Given the description of an element on the screen output the (x, y) to click on. 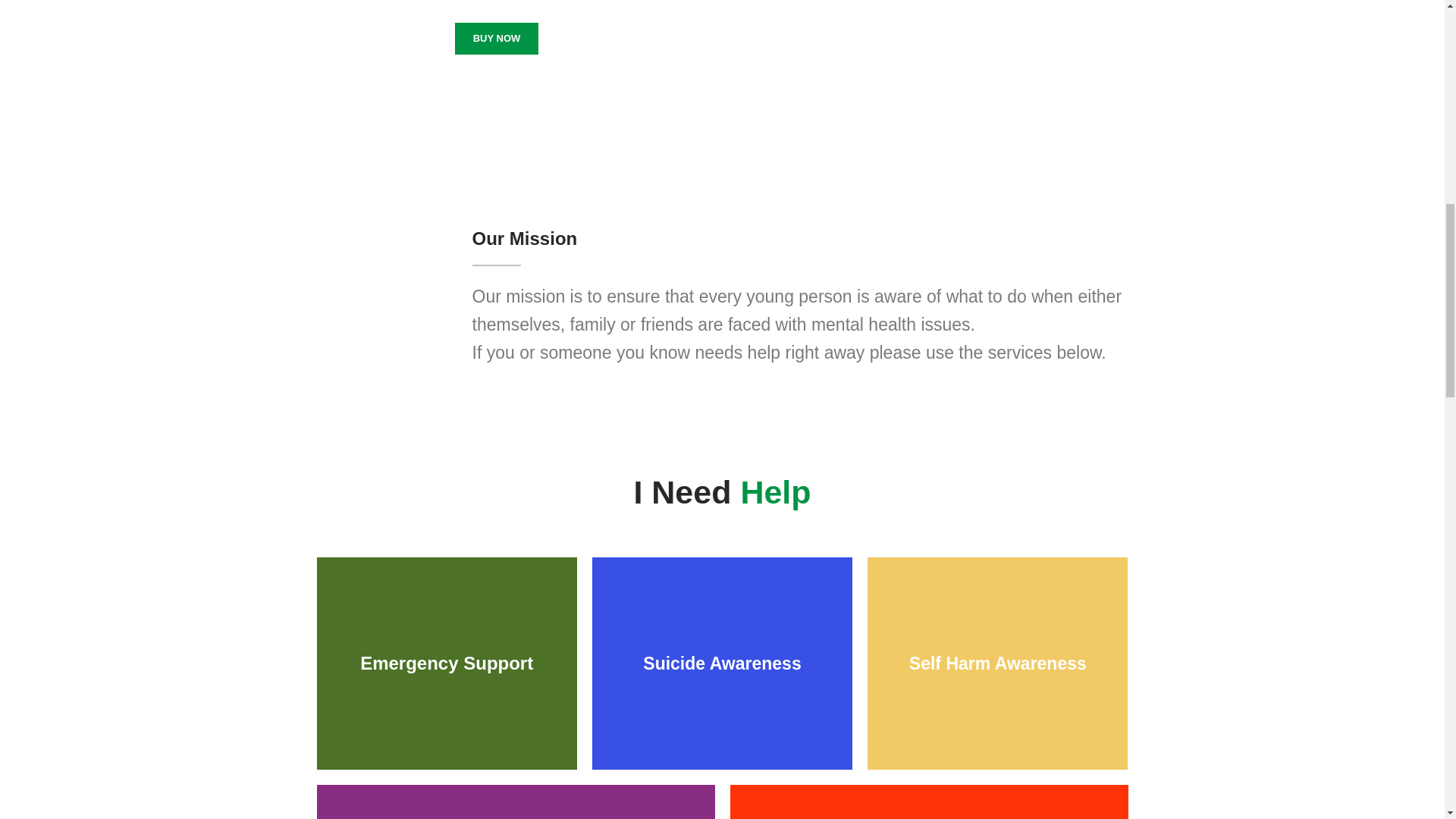
Emergency Support (446, 663)
BUY NOW (496, 38)
Depression Awareness (927, 801)
Anxiety Awareness (515, 801)
Suicide Awareness (721, 663)
Self Harm Awareness (996, 663)
